Given the description of an element on the screen output the (x, y) to click on. 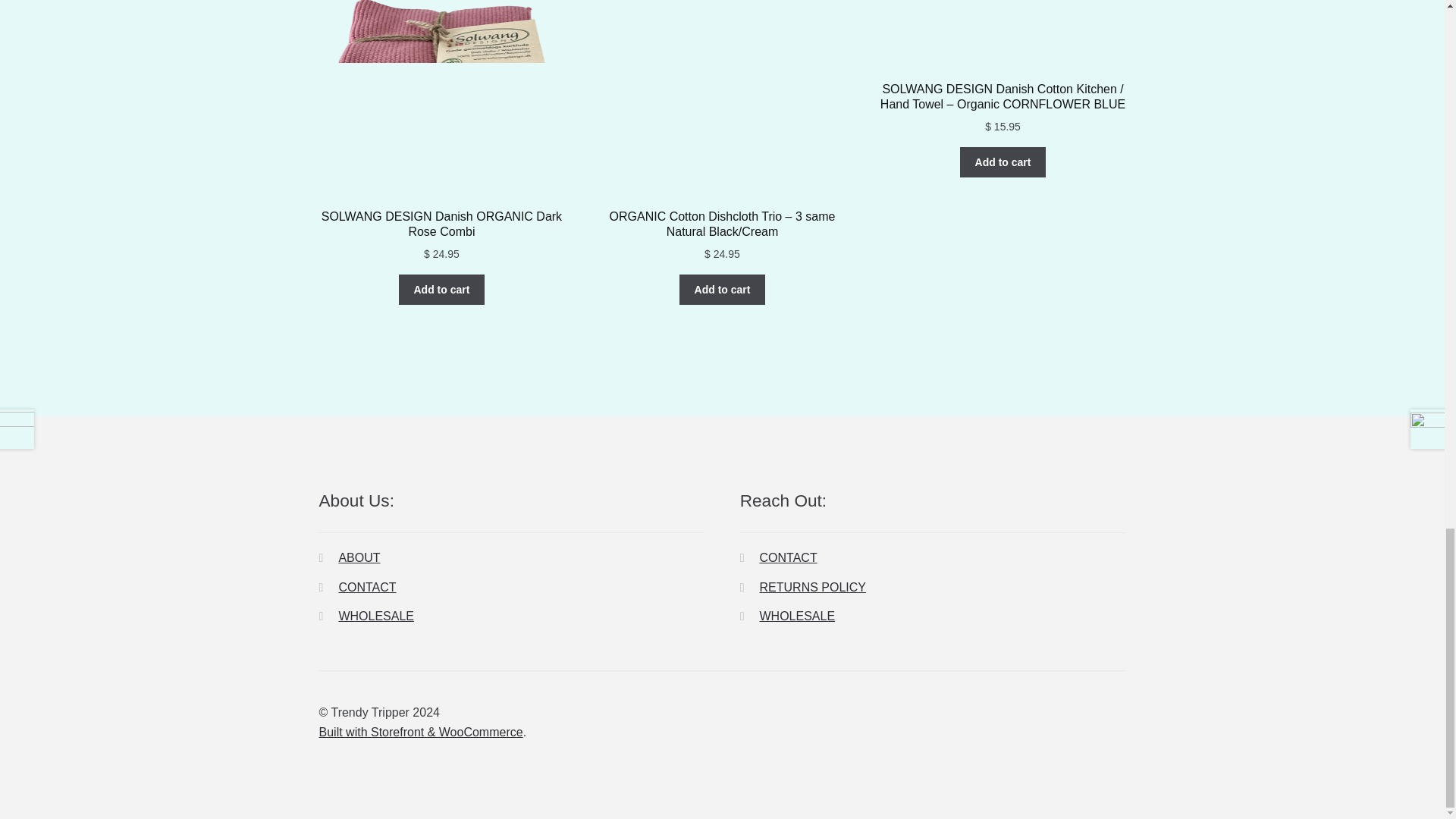
WooCommerce - The Best eCommerce Platform for WordPress (420, 731)
